Given the description of an element on the screen output the (x, y) to click on. 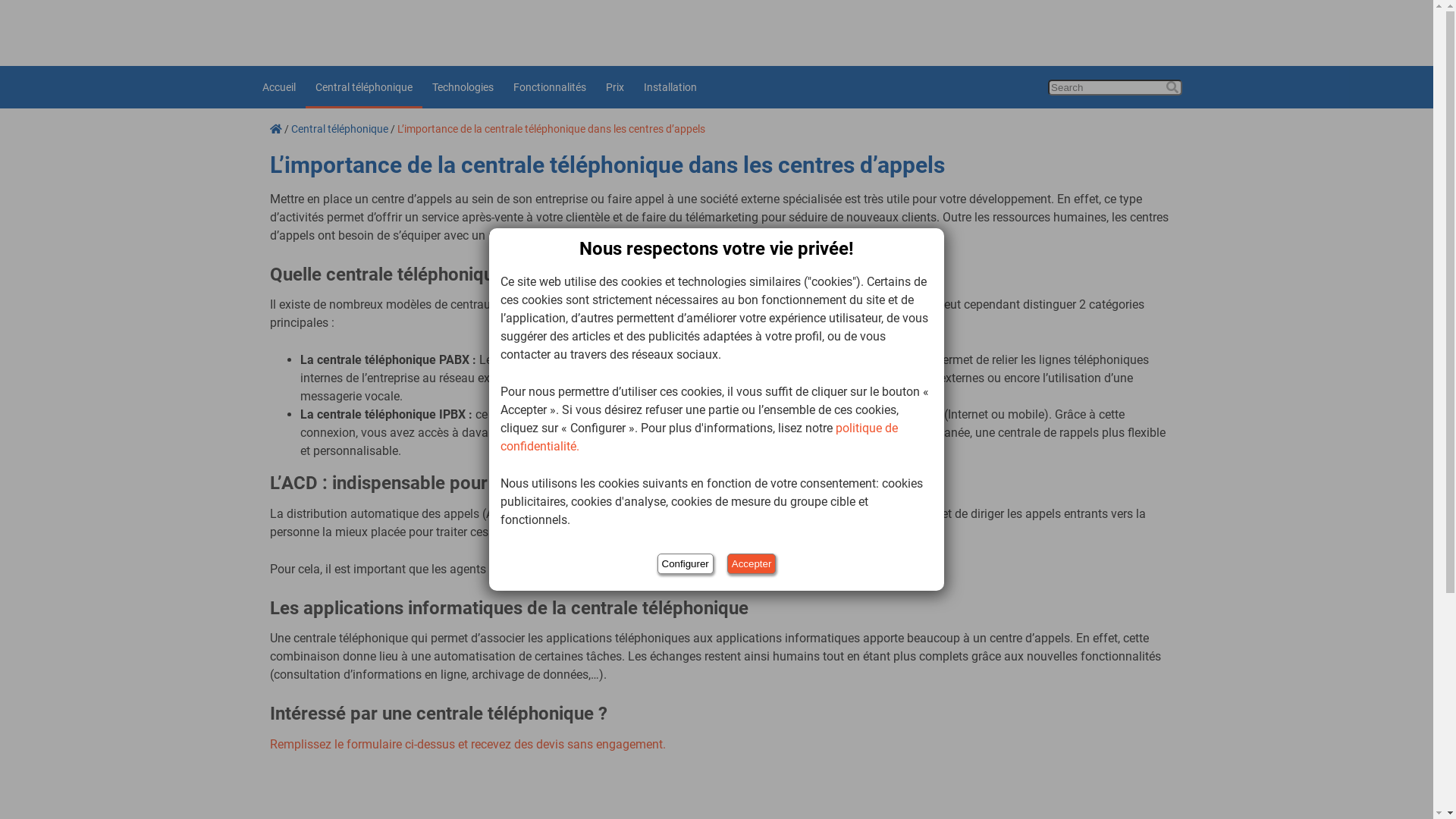
Installation Element type: text (669, 86)
Accueil Element type: text (277, 86)
Configurer Element type: text (685, 563)
Prix Element type: text (614, 86)
Accepter Element type: text (751, 563)
Technologies Element type: text (461, 86)
